Given the description of an element on the screen output the (x, y) to click on. 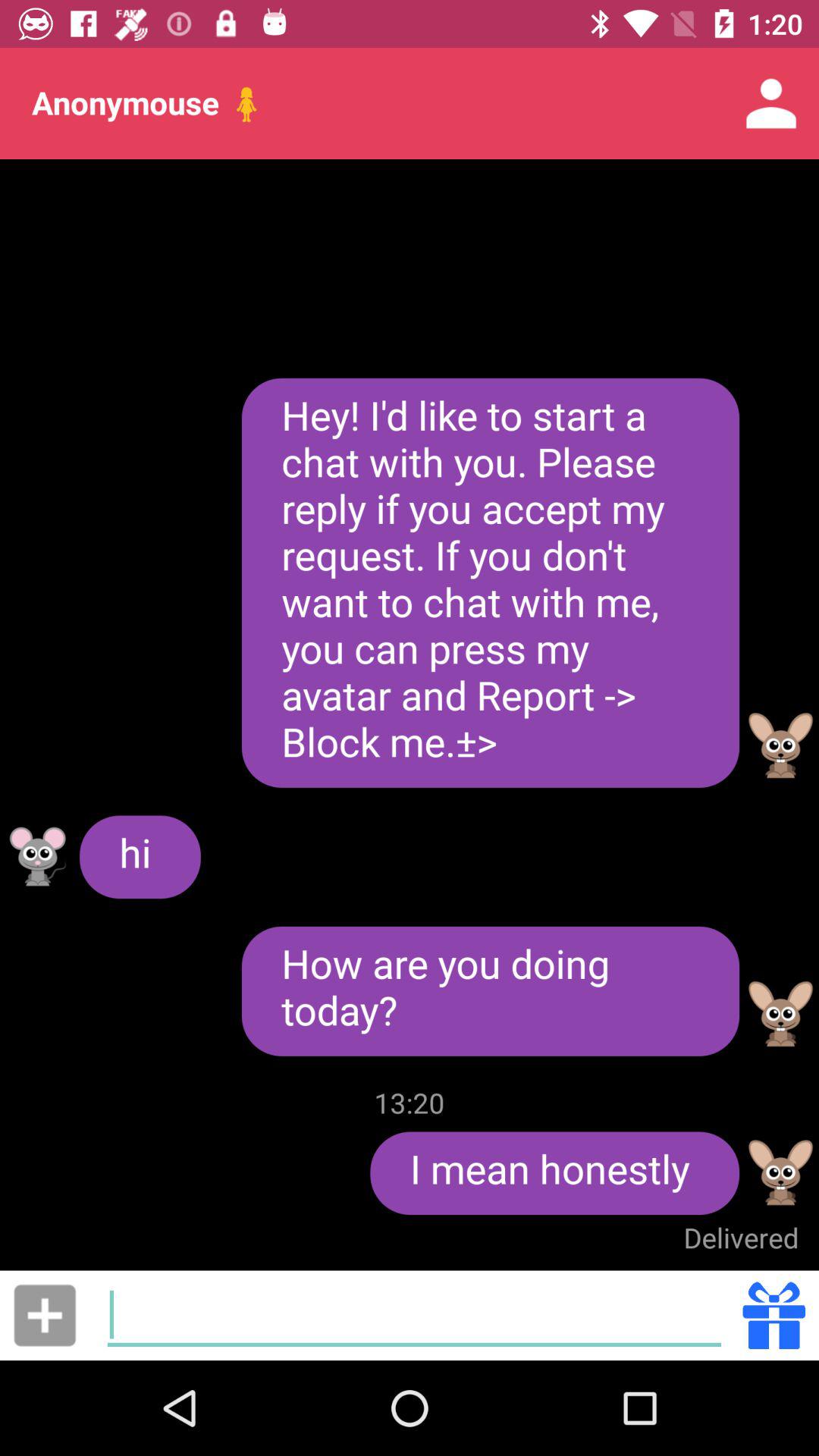
show profile options (780, 1172)
